Given the description of an element on the screen output the (x, y) to click on. 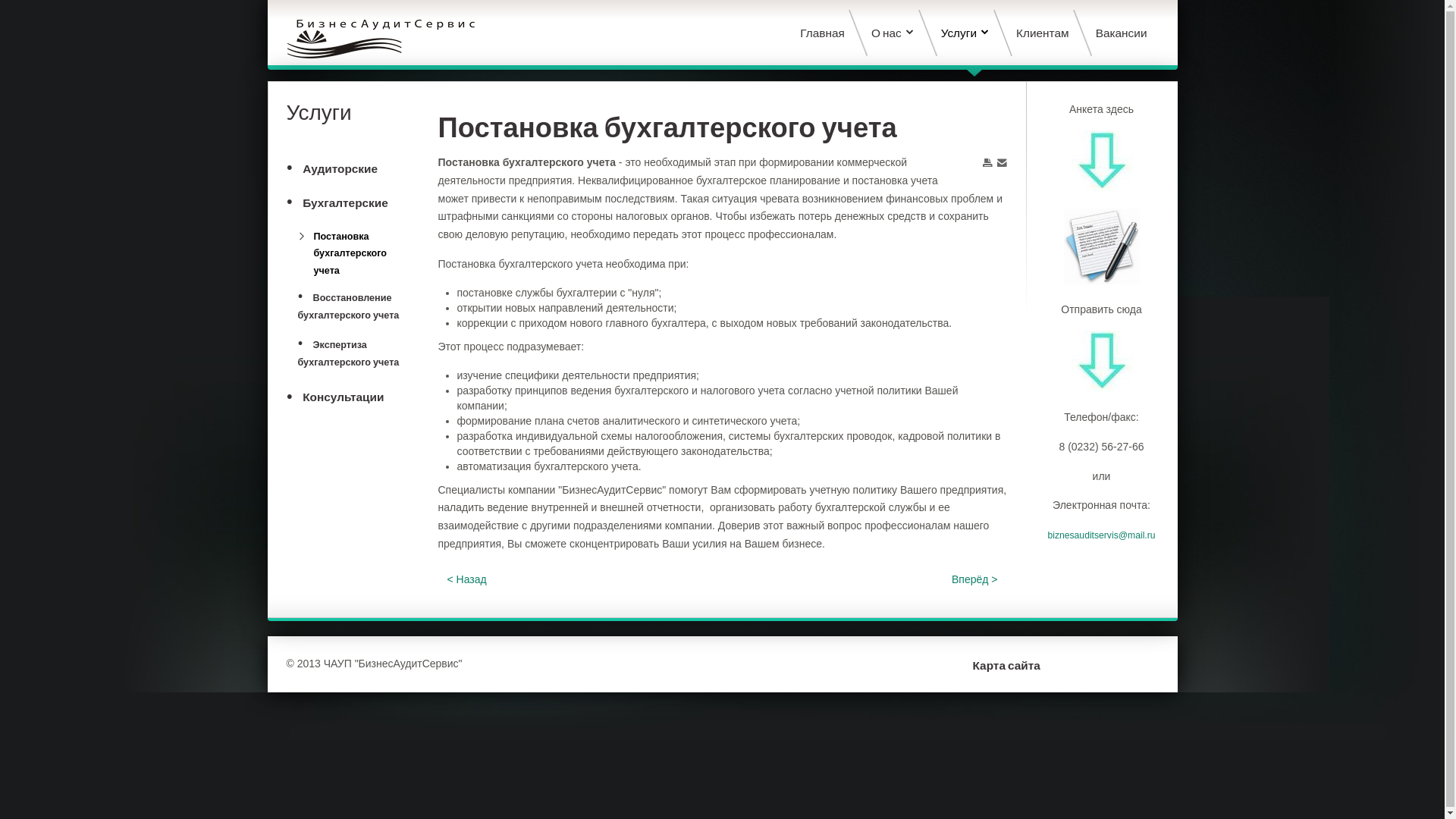
biznesauditservis@mail.ru Element type: text (1100, 535)
E-mail Element type: hover (1001, 163)
